Given the description of an element on the screen output the (x, y) to click on. 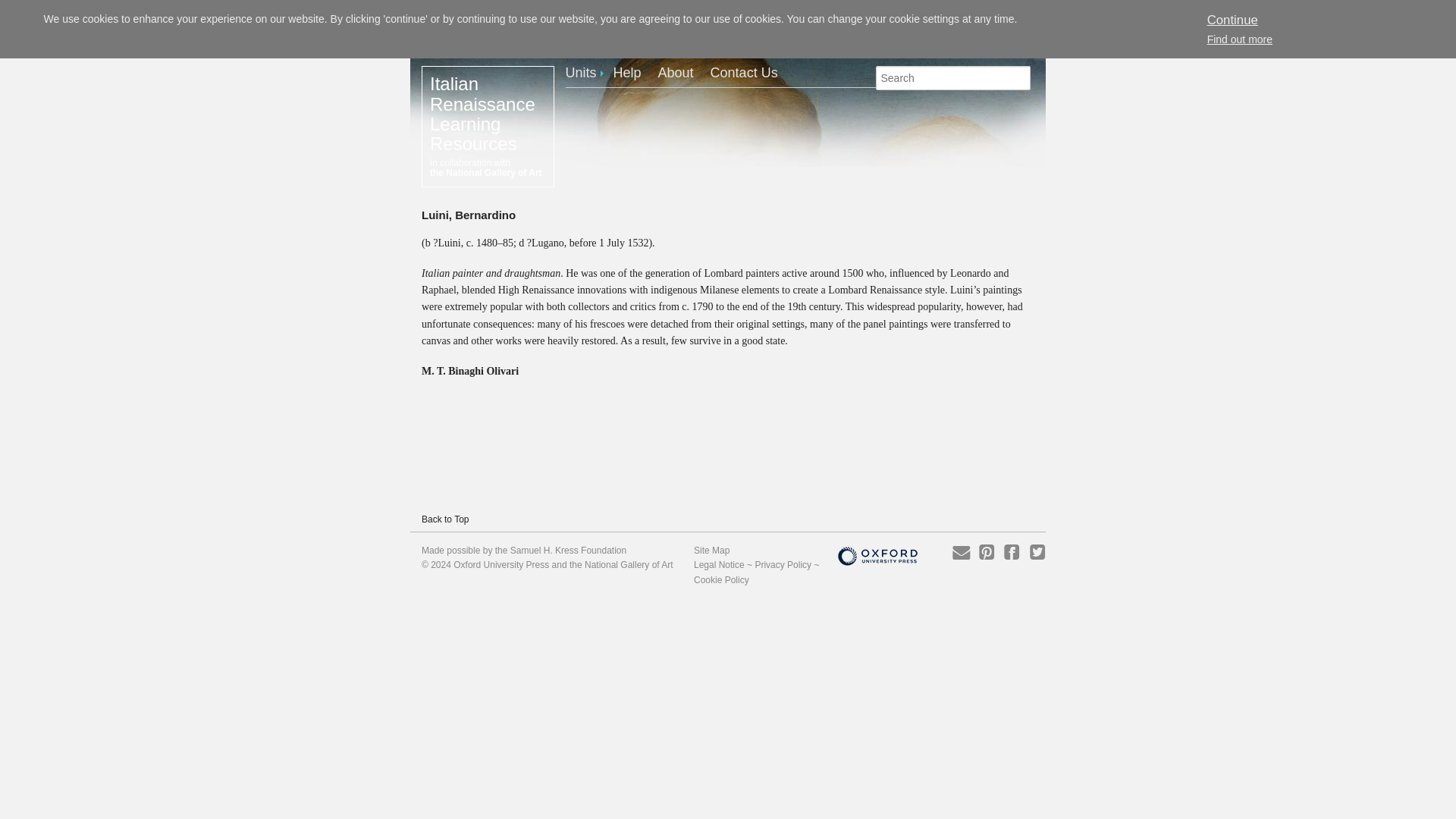
Share by Email (960, 551)
About (682, 72)
Find out more (1239, 39)
How we use cookies on this site (1239, 39)
Cookie Policy (721, 579)
Share on Pinterest (986, 551)
Site Map (711, 550)
Italian Renaissance Learning Resources (482, 113)
Privacy Policy (782, 564)
Continue (1232, 20)
Units (588, 72)
Back to Top (445, 519)
Oxford University Press (500, 564)
National Gallery of Art (628, 564)
Samuel H. Kress Foundation (568, 550)
